Given the description of an element on the screen output the (x, y) to click on. 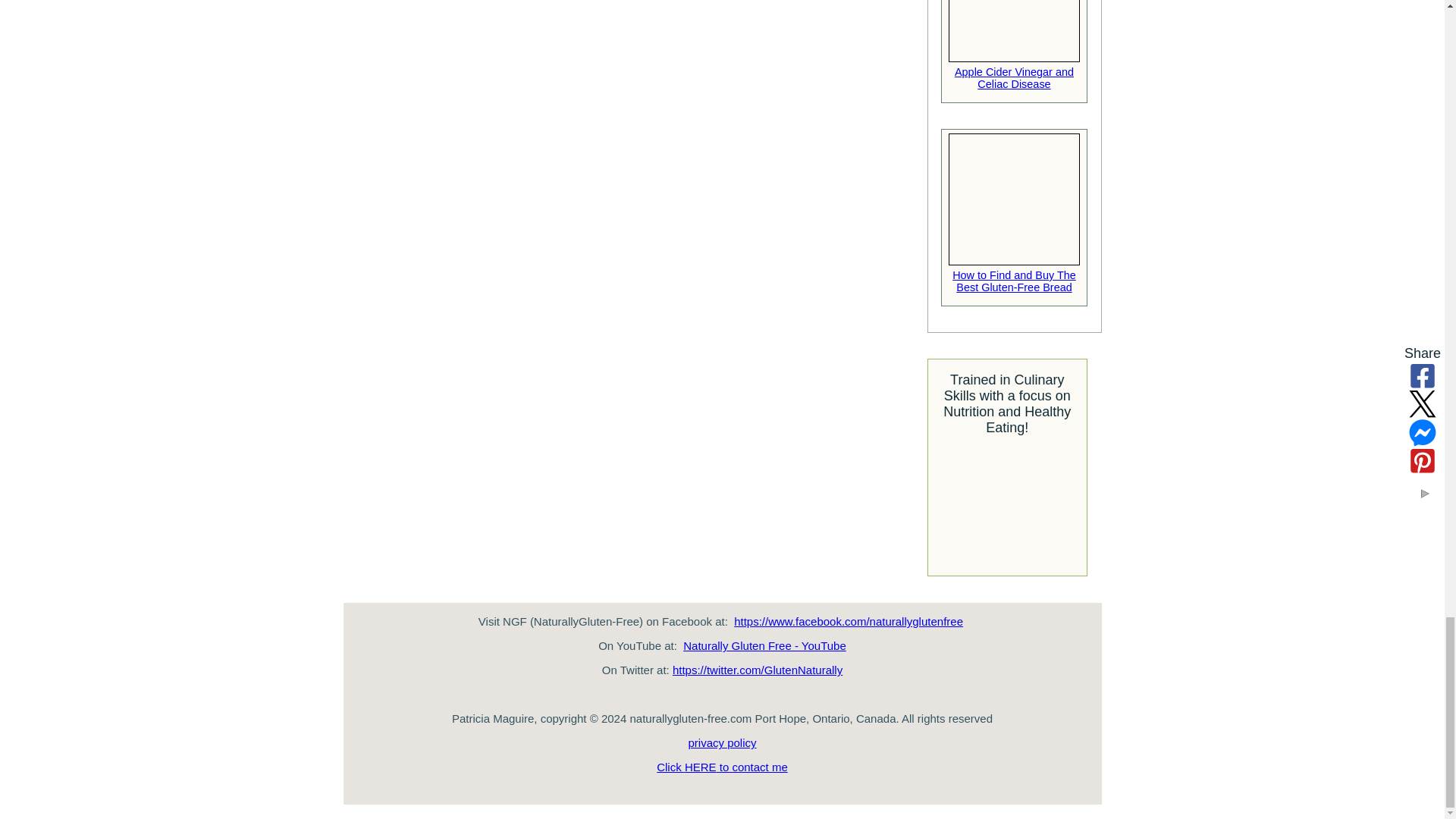
Go to Buying Gluten-Free Bread (1014, 273)
Patty Maguire Culinary Skills Certificate (1007, 503)
Go to Apple Cider Vinegar and Celiac Disease (1014, 70)
